Given the description of an element on the screen output the (x, y) to click on. 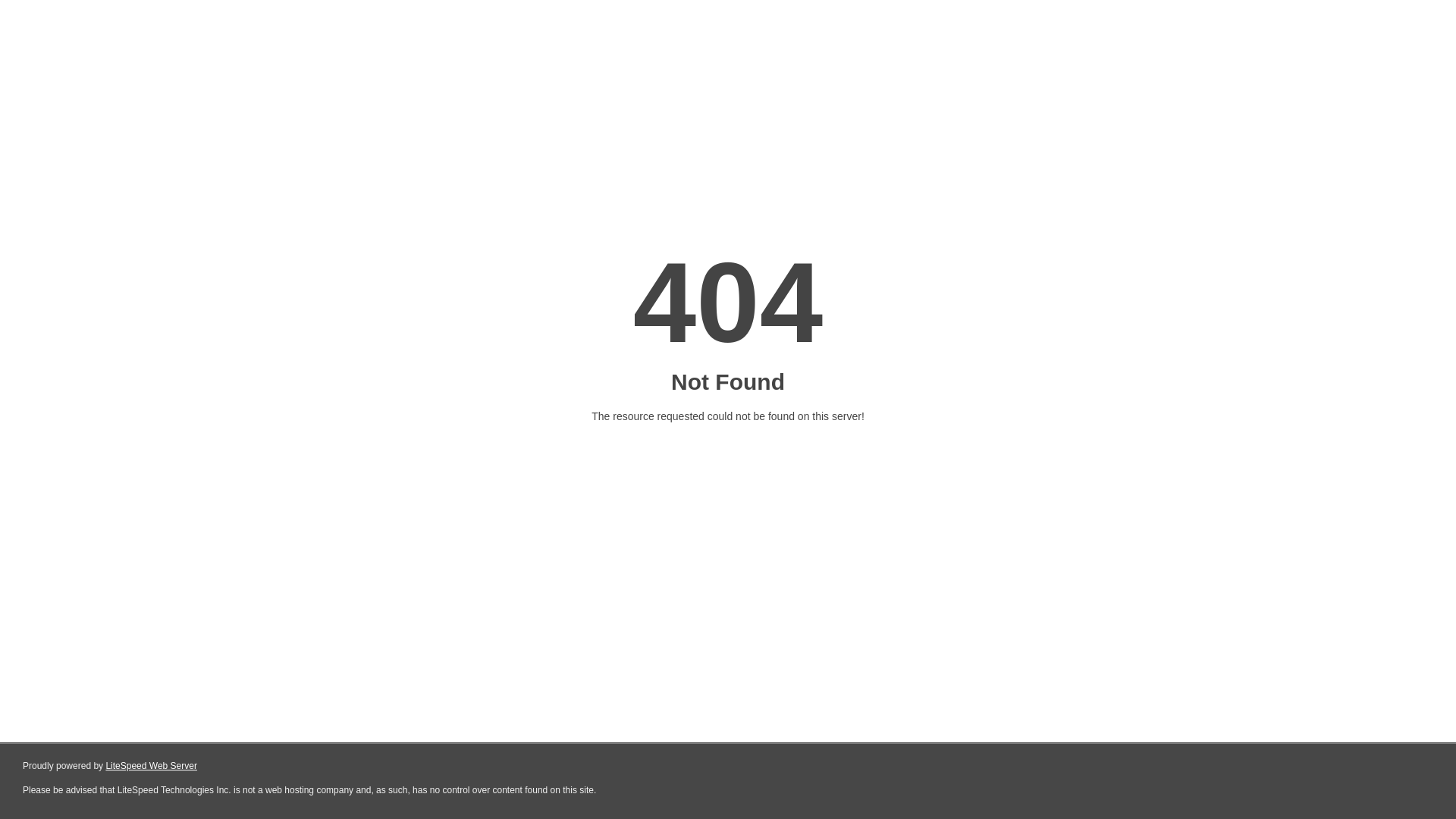
LiteSpeed Web Server Element type: text (151, 765)
